Given the description of an element on the screen output the (x, y) to click on. 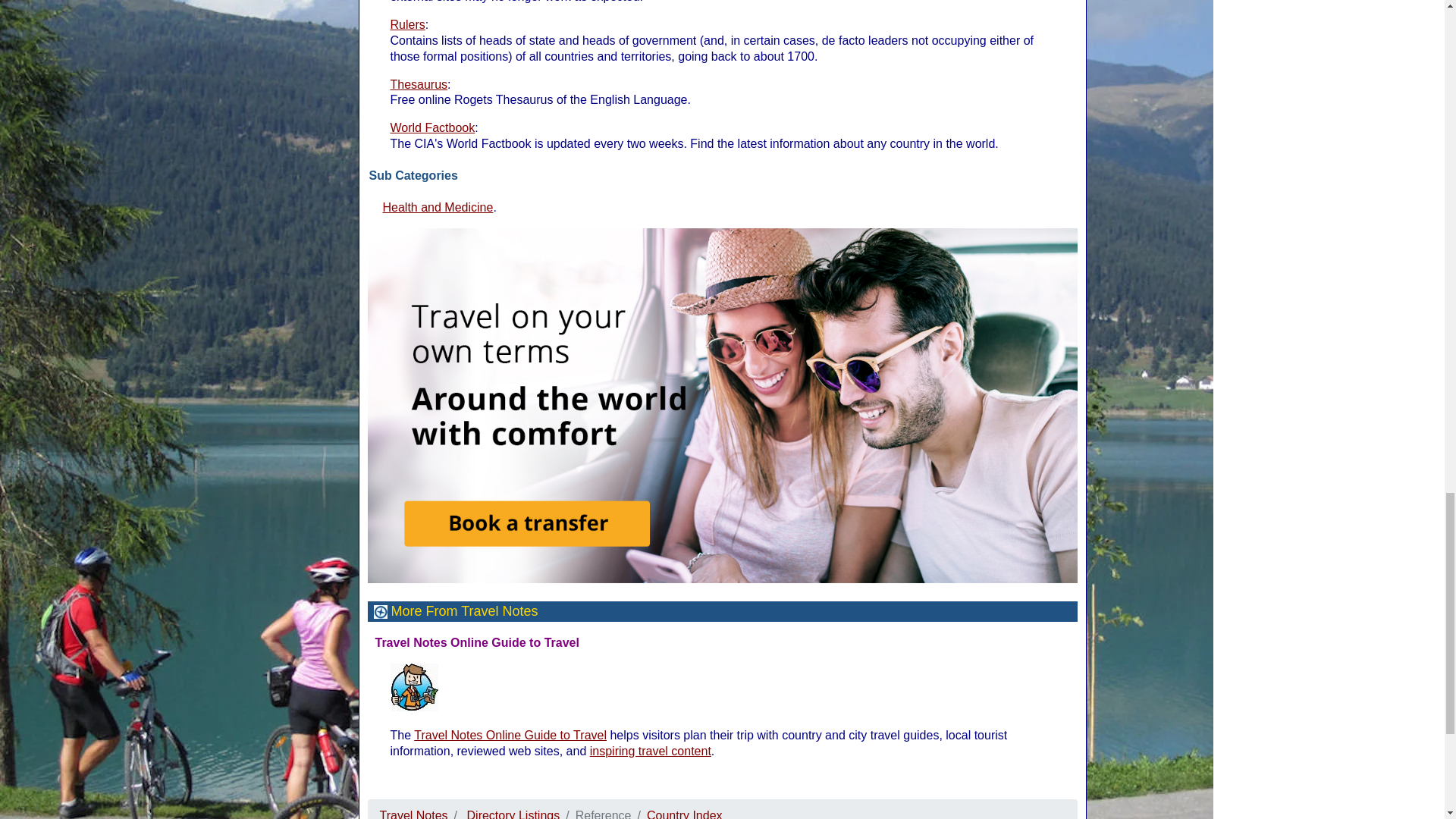
Join Michel on Meta-Travel (414, 687)
Country Index (684, 814)
Travel Notes Online Guide to Travel (510, 735)
Health and Medicine (437, 206)
Travel Notes (412, 814)
Directory Listings (513, 814)
inspiring travel content (650, 750)
Thesaurus (418, 83)
World Factbook (432, 127)
Rulers (407, 24)
